Given the description of an element on the screen output the (x, y) to click on. 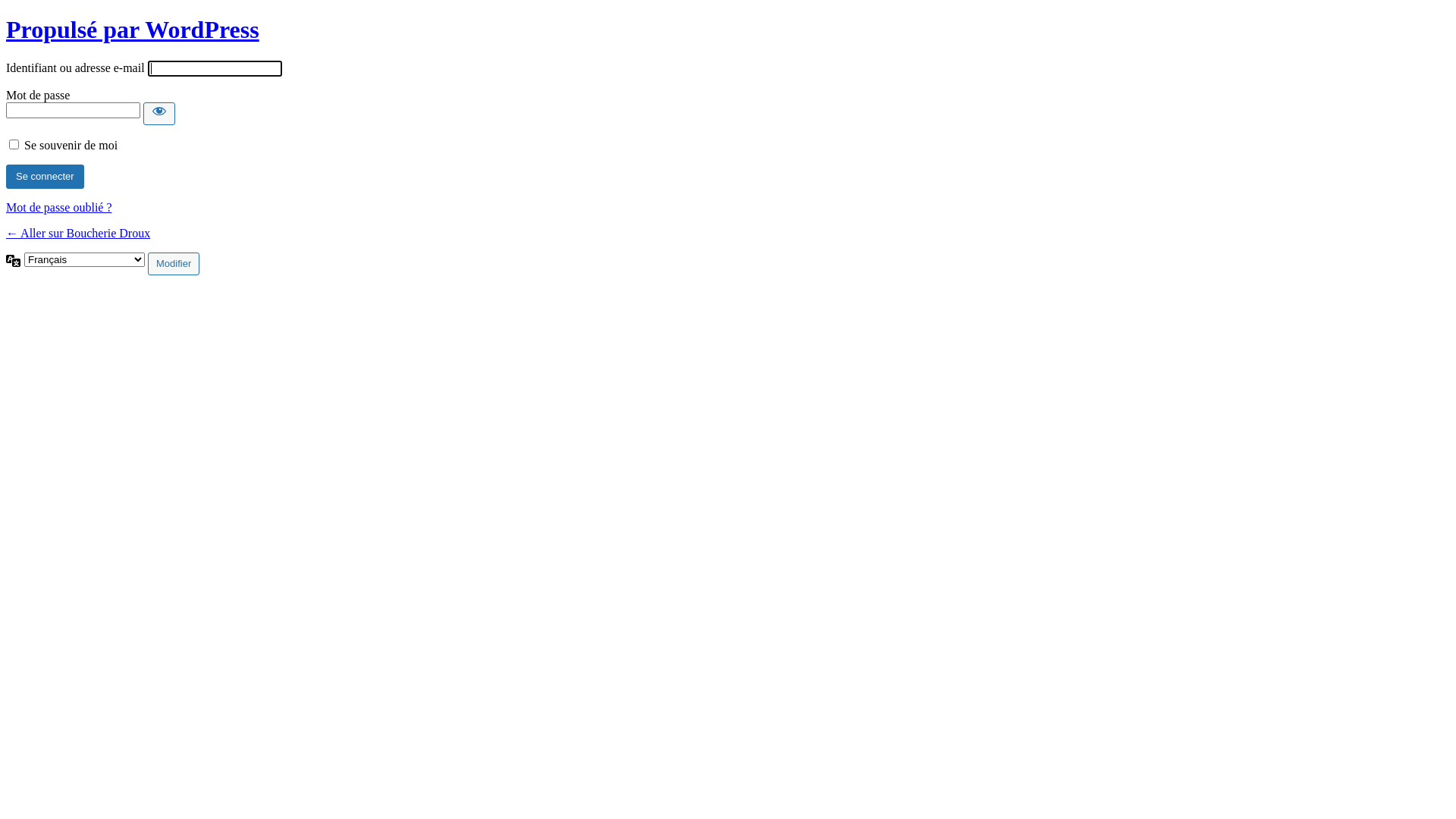
Modifier Element type: text (173, 263)
Se connecter Element type: text (45, 176)
